Given the description of an element on the screen output the (x, y) to click on. 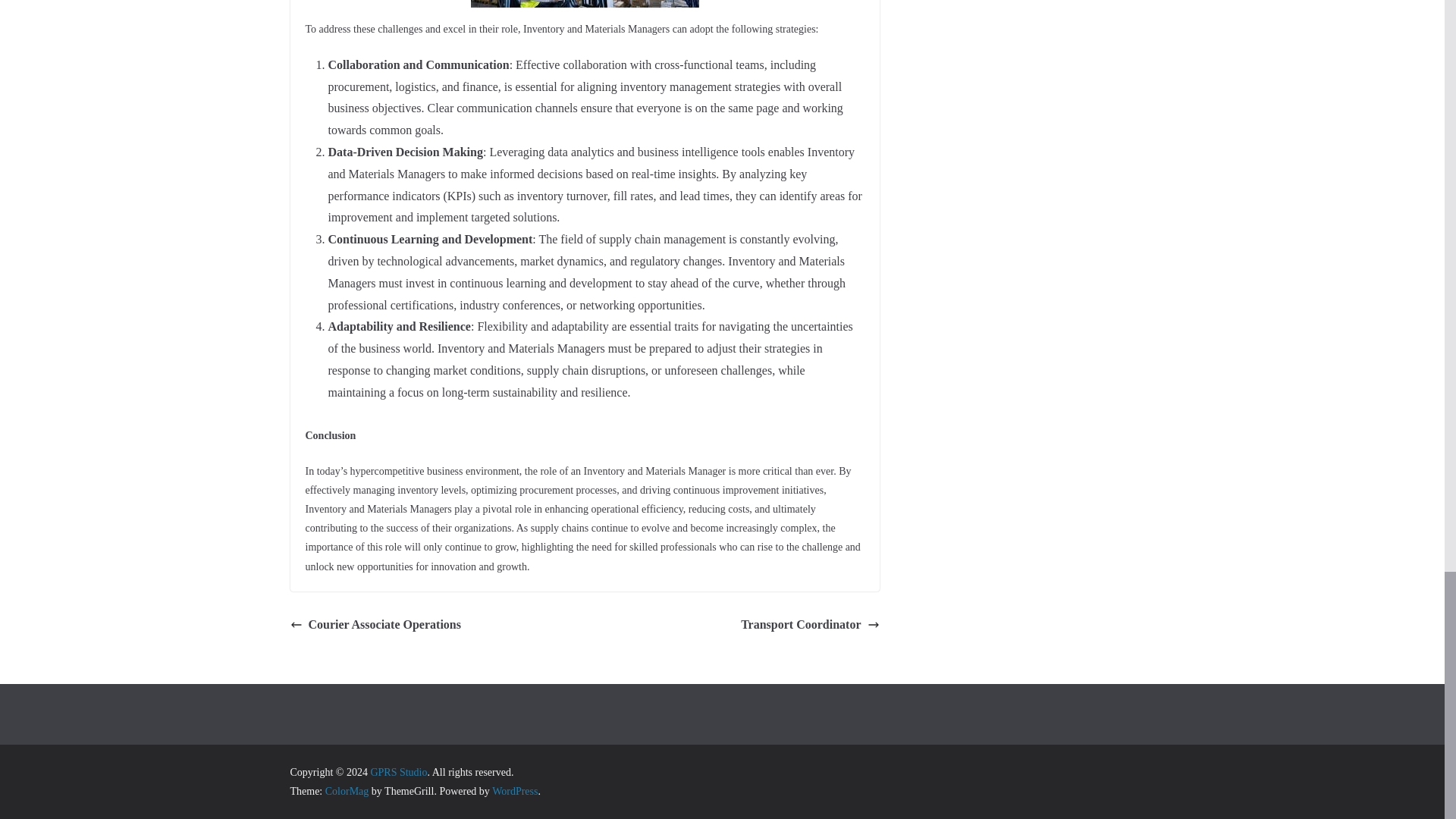
Transport Coordinator (810, 625)
Courier Associate Operations (374, 625)
GPRS Studio (397, 772)
WordPress (514, 790)
ColorMag (346, 790)
ColorMag (346, 790)
GPRS Studio (397, 772)
WordPress (514, 790)
